Given the description of an element on the screen output the (x, y) to click on. 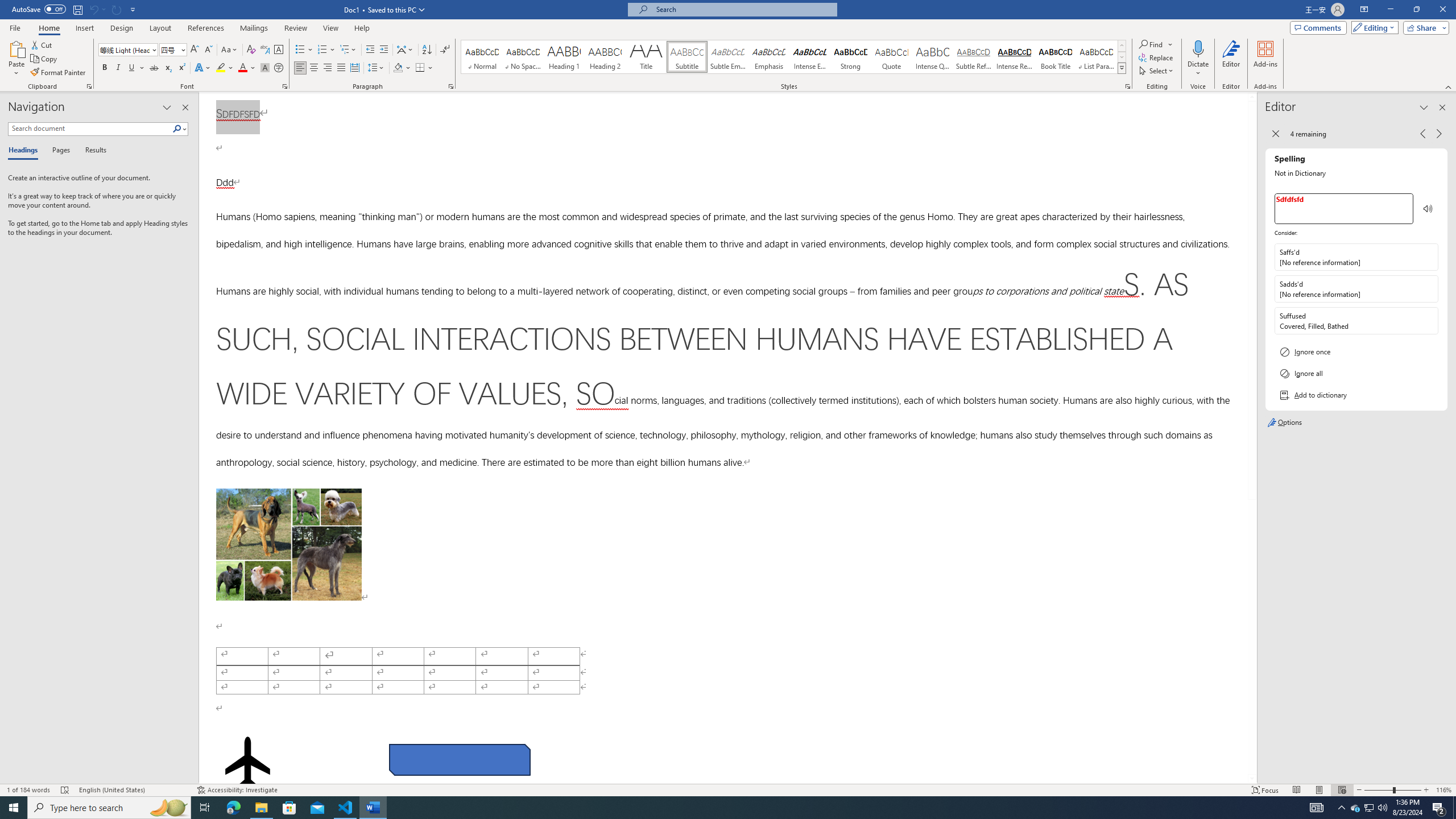
Focus  (1265, 790)
Underline (131, 67)
Font Size (169, 49)
Class: MsoCommandBar (728, 789)
Paste (16, 58)
Numbering (326, 49)
Text Highlight Color Yellow (220, 67)
Character Border (278, 49)
Collapse the Ribbon (1448, 86)
Format Painter (58, 72)
Italic (118, 67)
Decrease Indent (370, 49)
Asian Layout (405, 49)
Strong (849, 56)
